Given the description of an element on the screen output the (x, y) to click on. 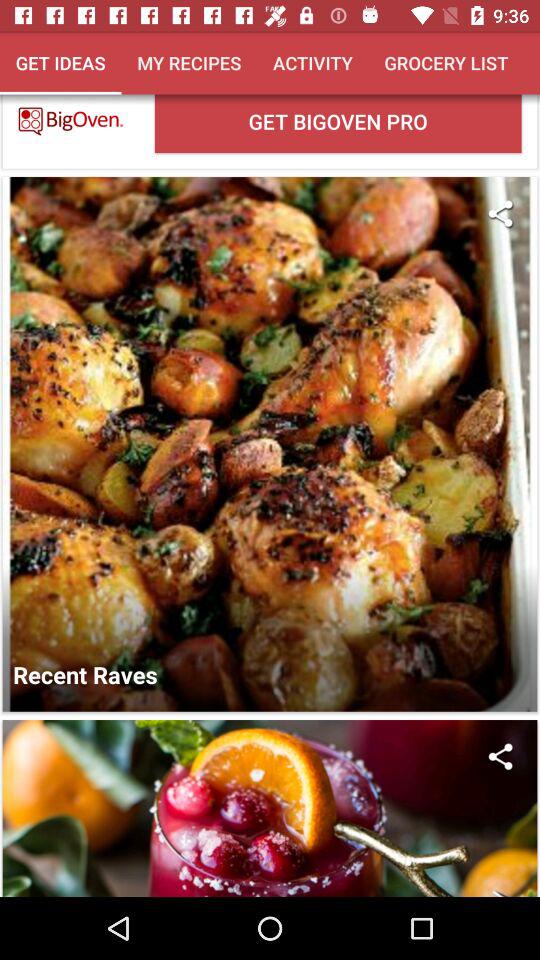
share the article (500, 213)
